Given the description of an element on the screen output the (x, y) to click on. 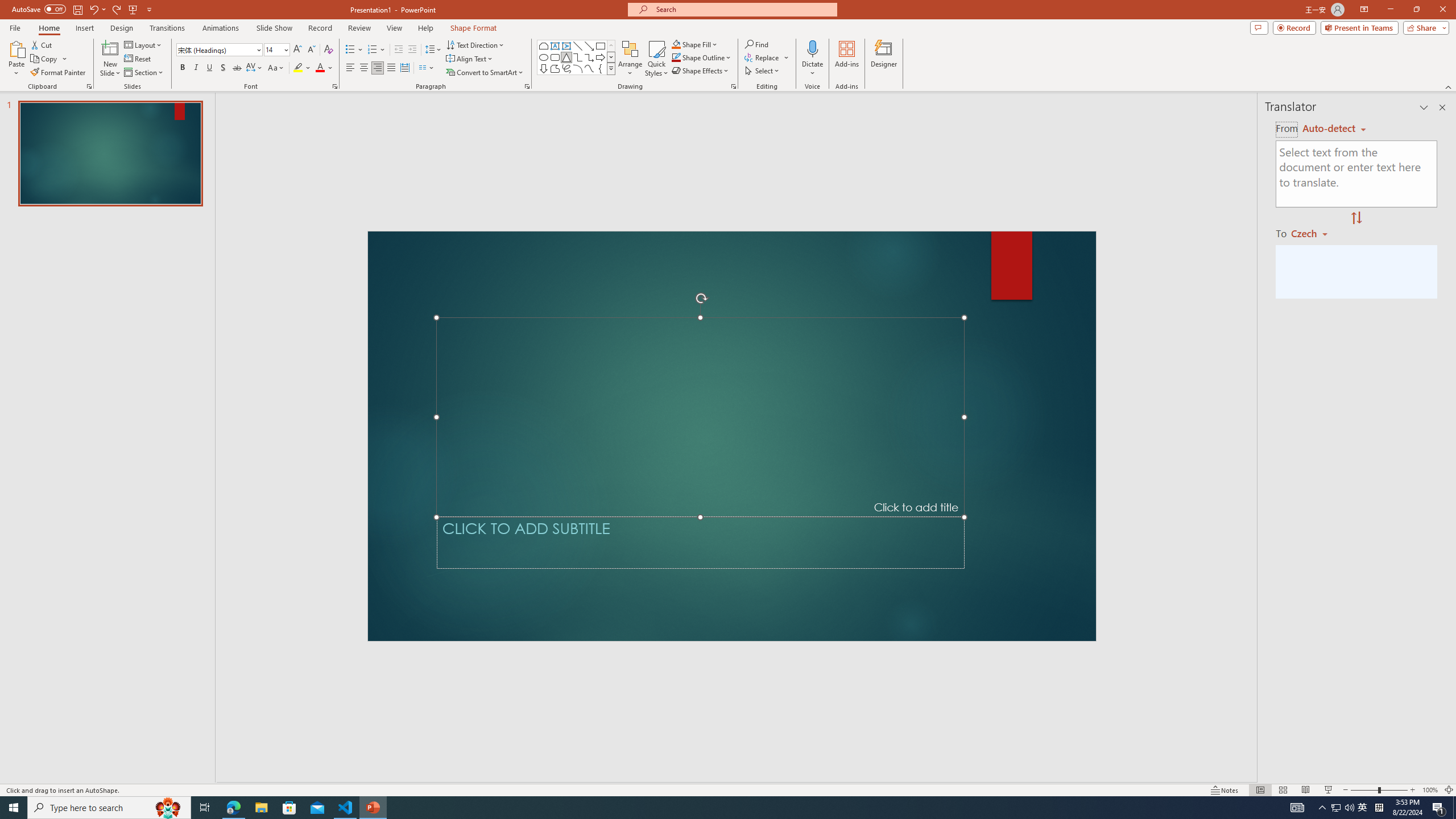
Zoom 100% (1430, 790)
